Given the description of an element on the screen output the (x, y) to click on. 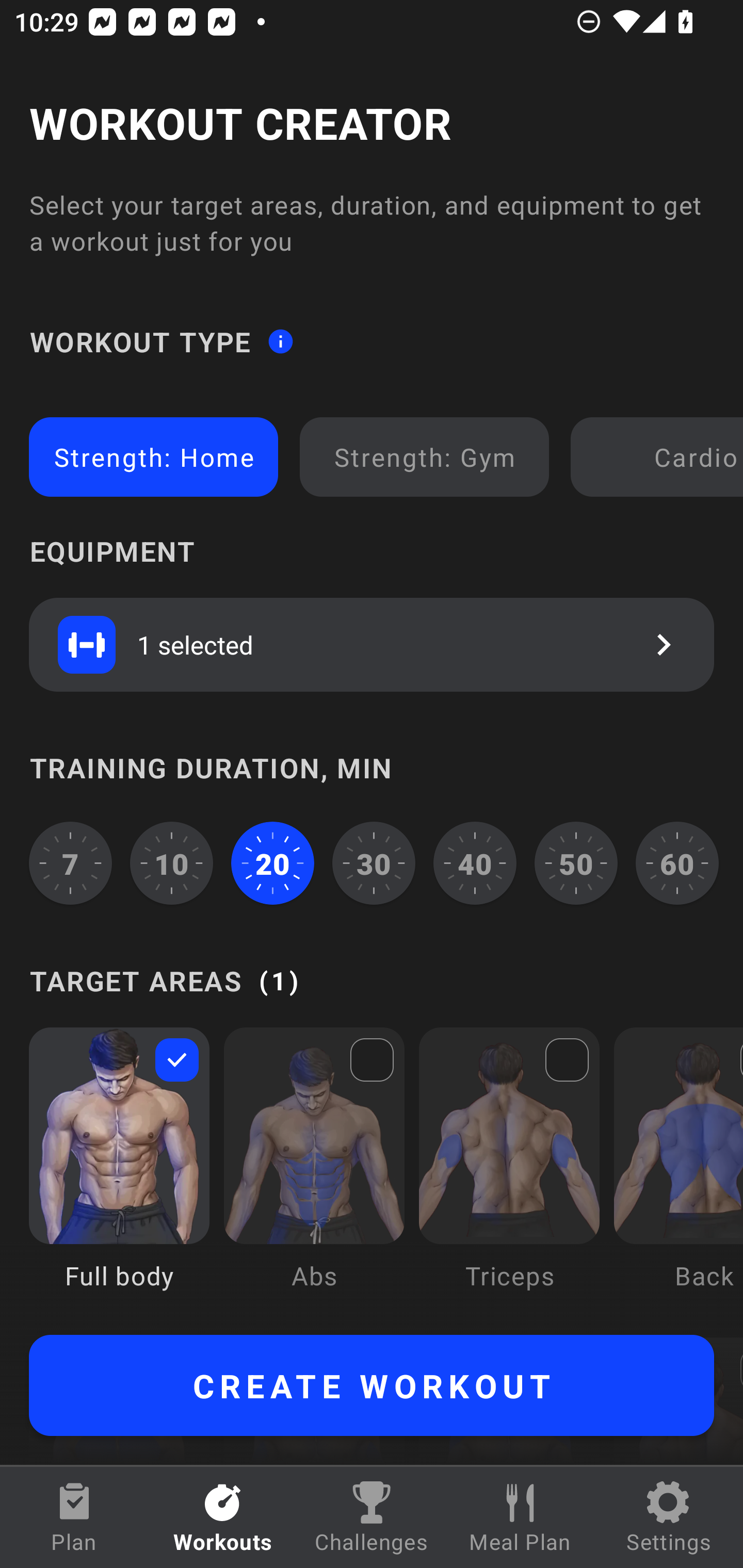
Workout type information button (280, 340)
Strength: Gym (423, 457)
Cardio (660, 457)
1 selected (371, 644)
7 (70, 862)
10 (171, 862)
20 (272, 862)
30 (373, 862)
40 (474, 862)
50 (575, 862)
60 (676, 862)
Abs (313, 1172)
Triceps (509, 1172)
Back (678, 1172)
CREATE WORKOUT (371, 1385)
 Plan  (74, 1517)
 Challenges  (371, 1517)
 Meal Plan  (519, 1517)
 Settings  (668, 1517)
